Given the description of an element on the screen output the (x, y) to click on. 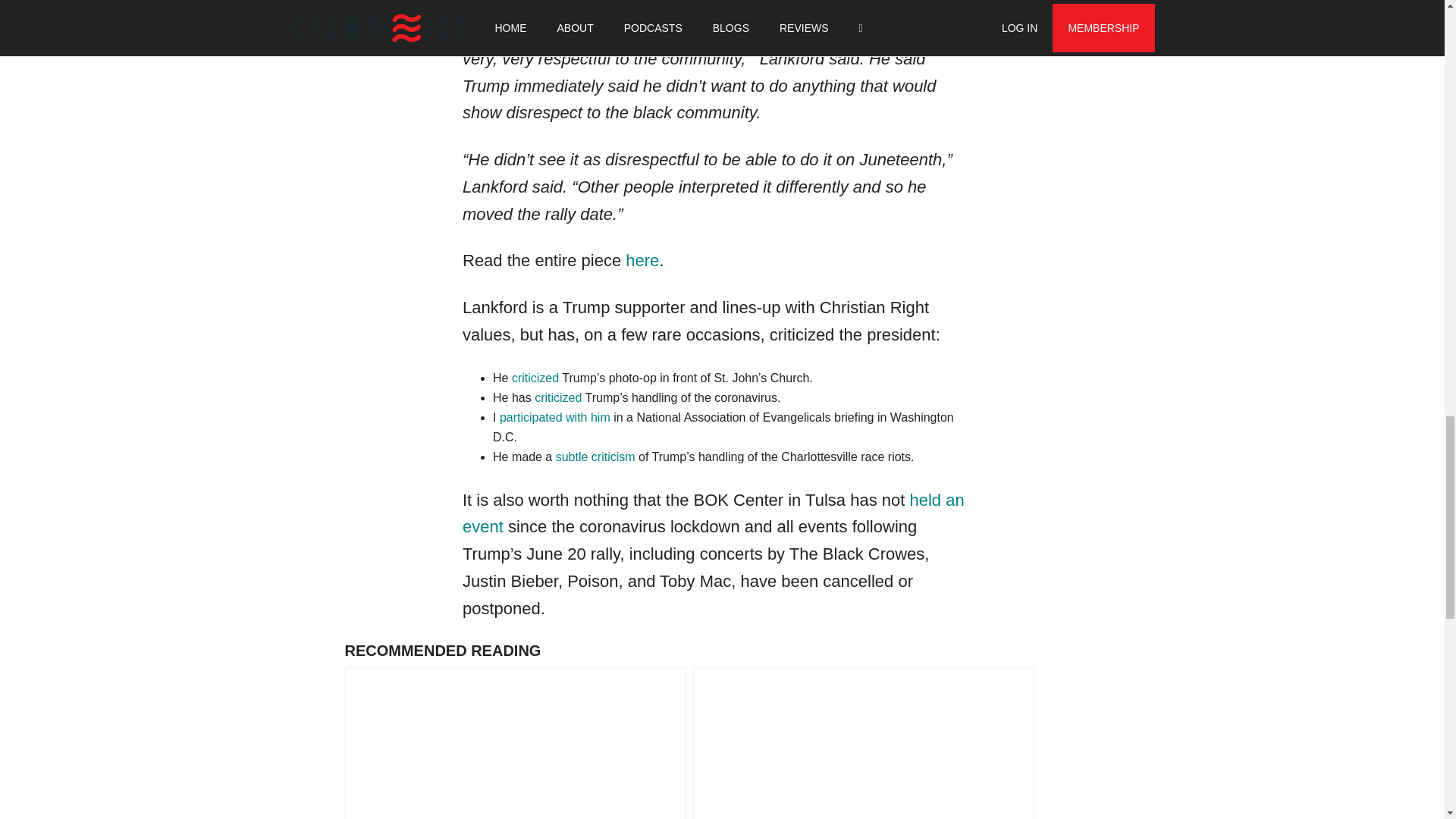
subtle criticism (595, 456)
here (642, 260)
criticized (535, 377)
held an event (713, 513)
participated with him (554, 417)
criticized (557, 397)
